Given the description of an element on the screen output the (x, y) to click on. 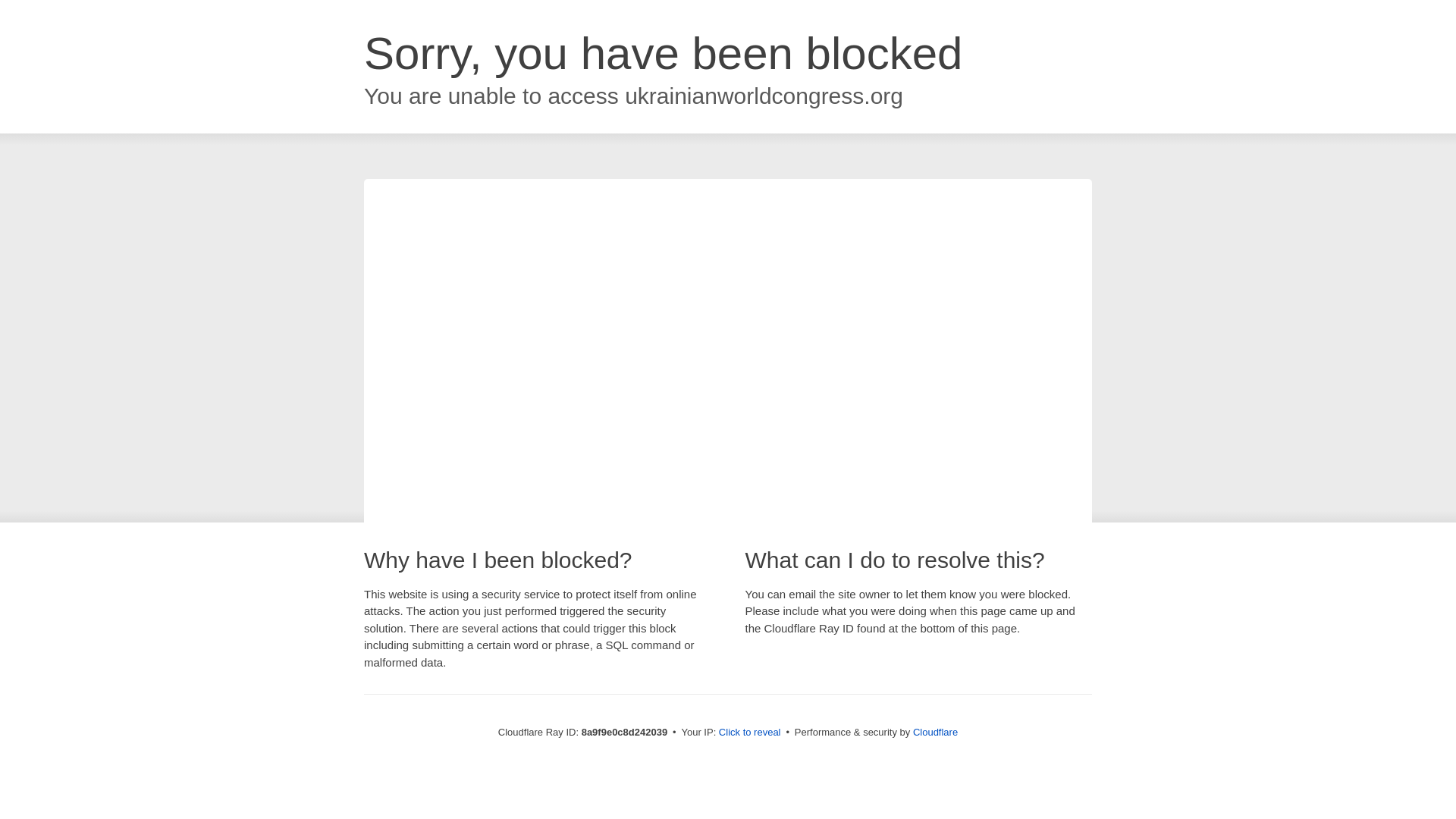
Click to reveal (749, 732)
Cloudflare (935, 731)
